Given the description of an element on the screen output the (x, y) to click on. 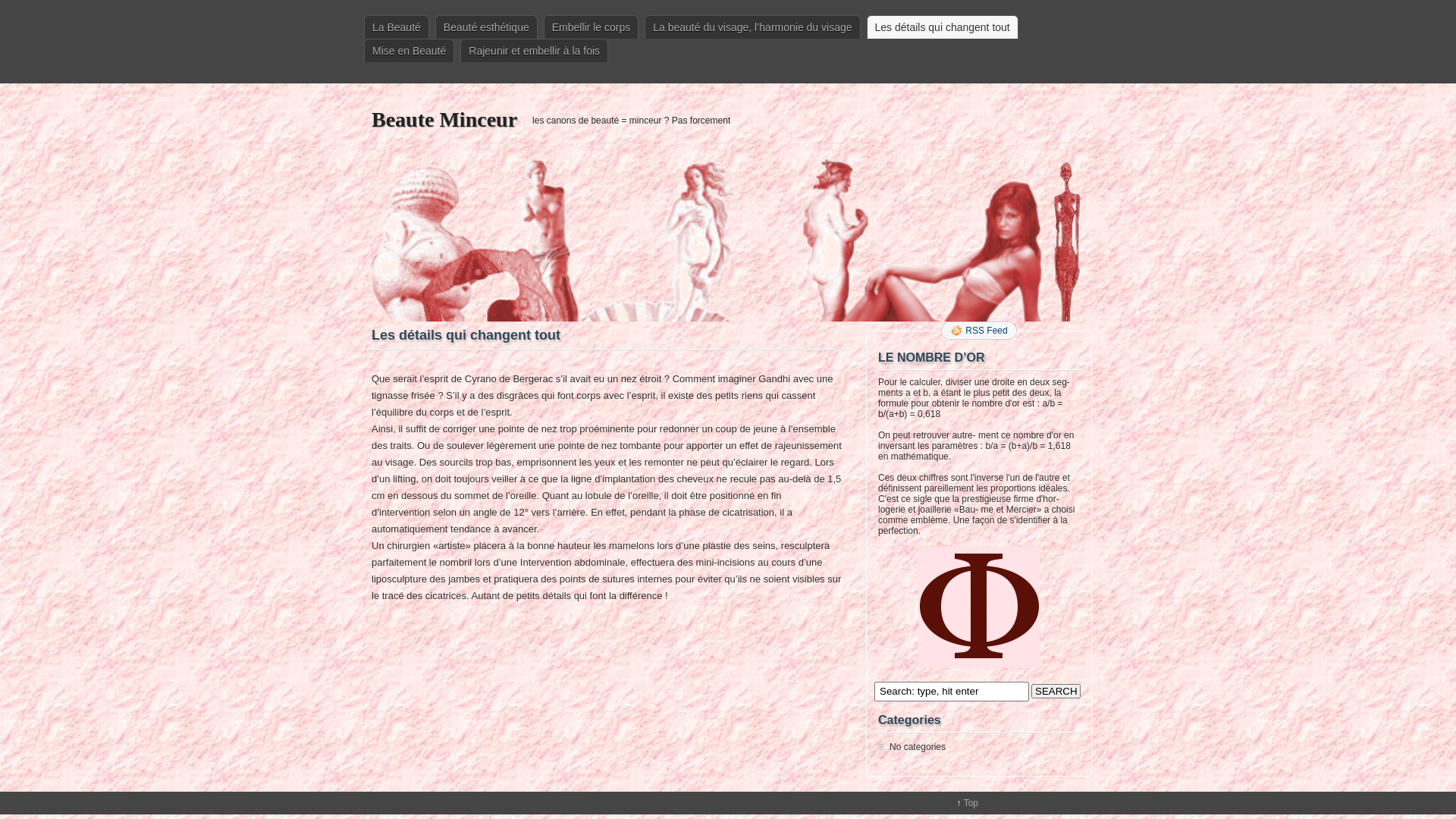
RSS Feed Element type: text (978, 330)
SEARCH Element type: text (1055, 691)
Top Element type: text (970, 802)
Beaute Minceur Element type: text (444, 119)
Embellir le corps Element type: text (590, 26)
